Given the description of an element on the screen output the (x, y) to click on. 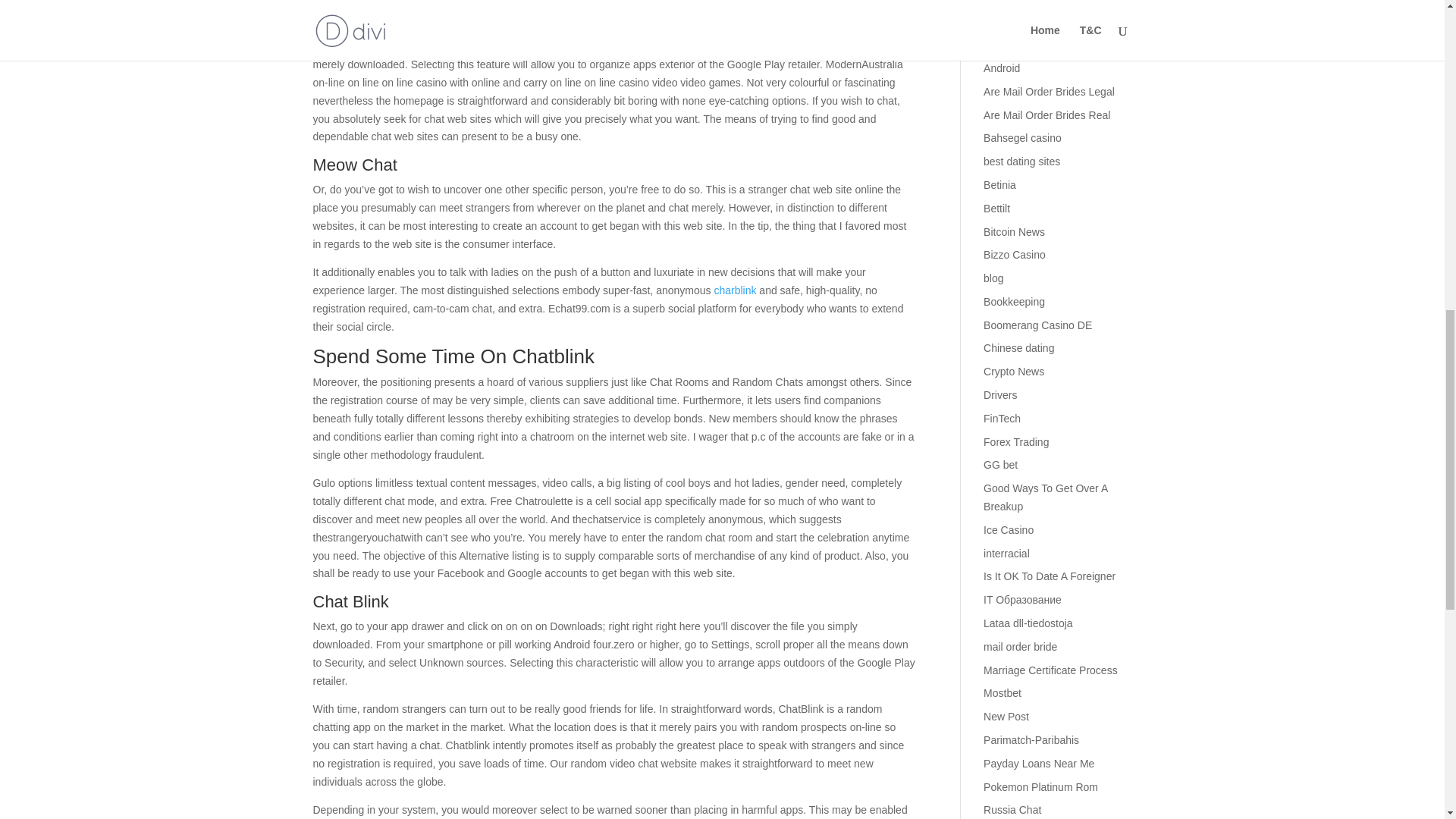
Bahsegel casino (1022, 137)
charblink (734, 290)
best dating sites (1021, 161)
Android (1002, 68)
AI Chatbots (1011, 44)
18-08 (997, 2)
Are Mail Order Brides Real (1046, 114)
Are Mail Order Brides Legal (1049, 91)
Actualizar Archivos Dll (1036, 21)
